Given the description of an element on the screen output the (x, y) to click on. 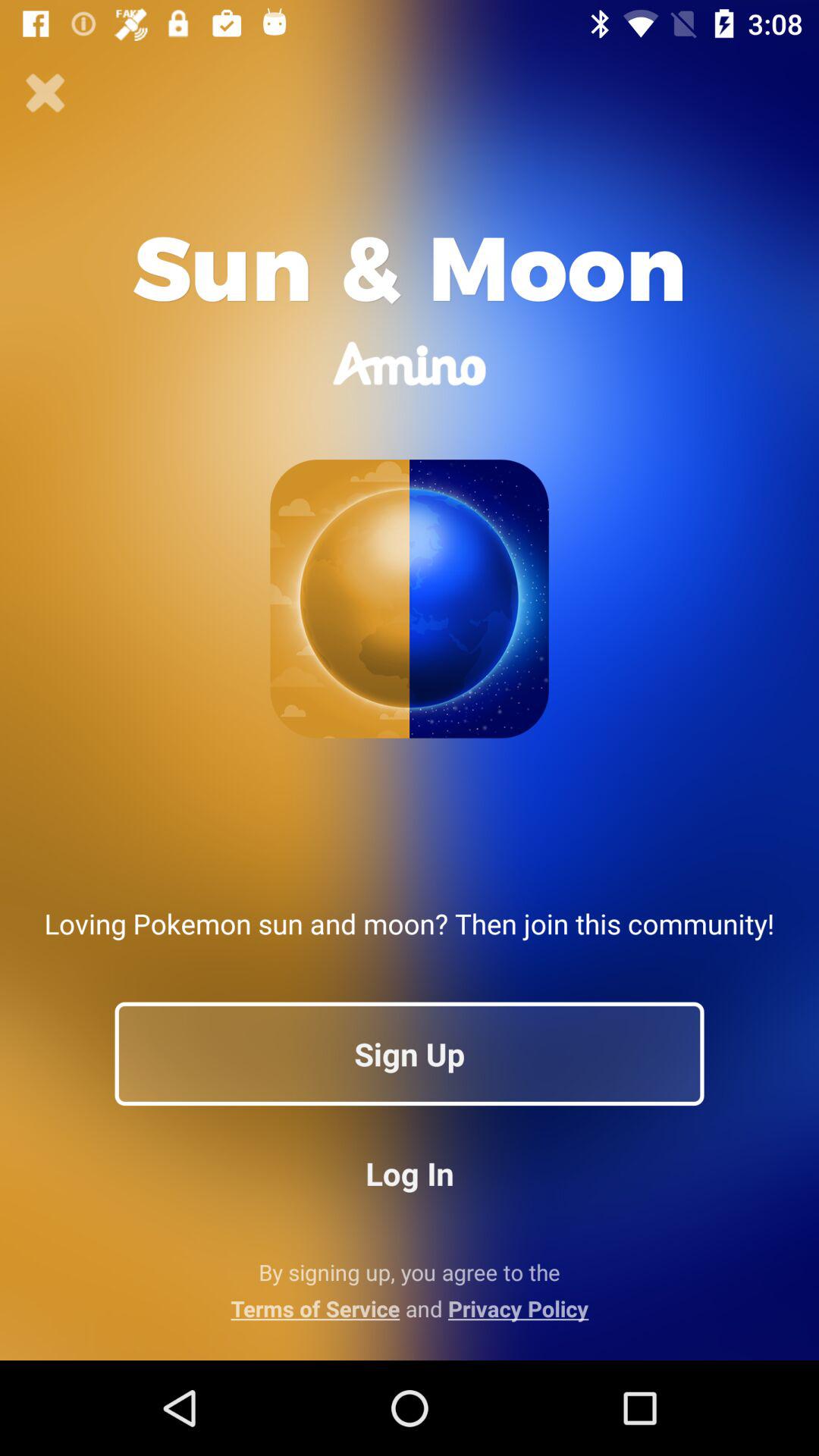
choose button below sign up (409, 1173)
